Given the description of an element on the screen output the (x, y) to click on. 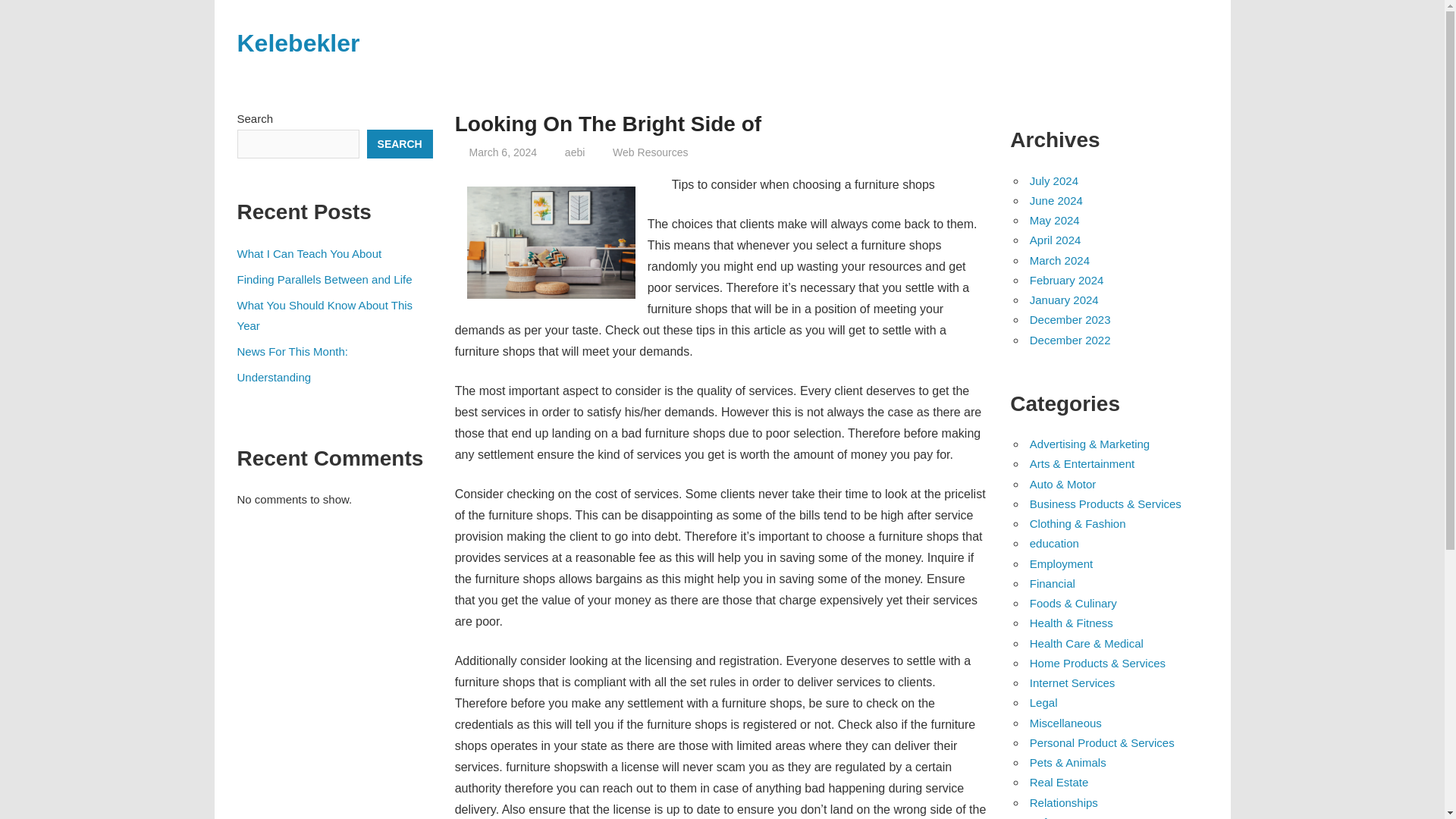
Internet Services (1072, 682)
Finding Parallels Between and Life (323, 278)
February 2024 (1066, 279)
View all posts by aebi (574, 152)
December 2022 (1069, 339)
December 2023 (1069, 318)
March 6, 2024 (502, 152)
News For This Month: (291, 350)
education (1053, 543)
aebi (574, 152)
April 2024 (1055, 239)
Web Resources (649, 152)
What I Can Teach You About (308, 253)
June 2024 (1056, 200)
Understanding (273, 377)
